Given the description of an element on the screen output the (x, y) to click on. 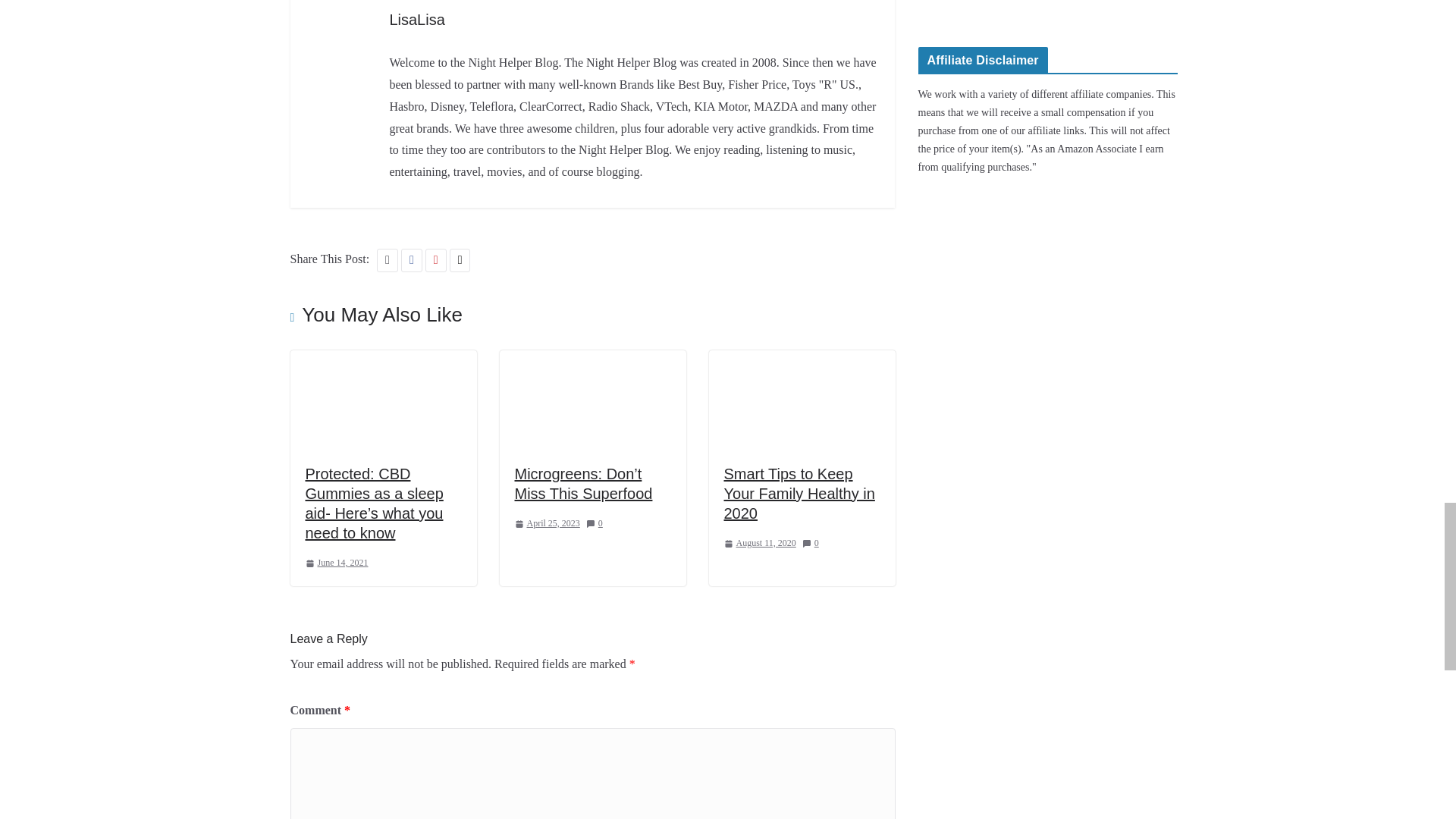
9:25 am (336, 563)
